Given the description of an element on the screen output the (x, y) to click on. 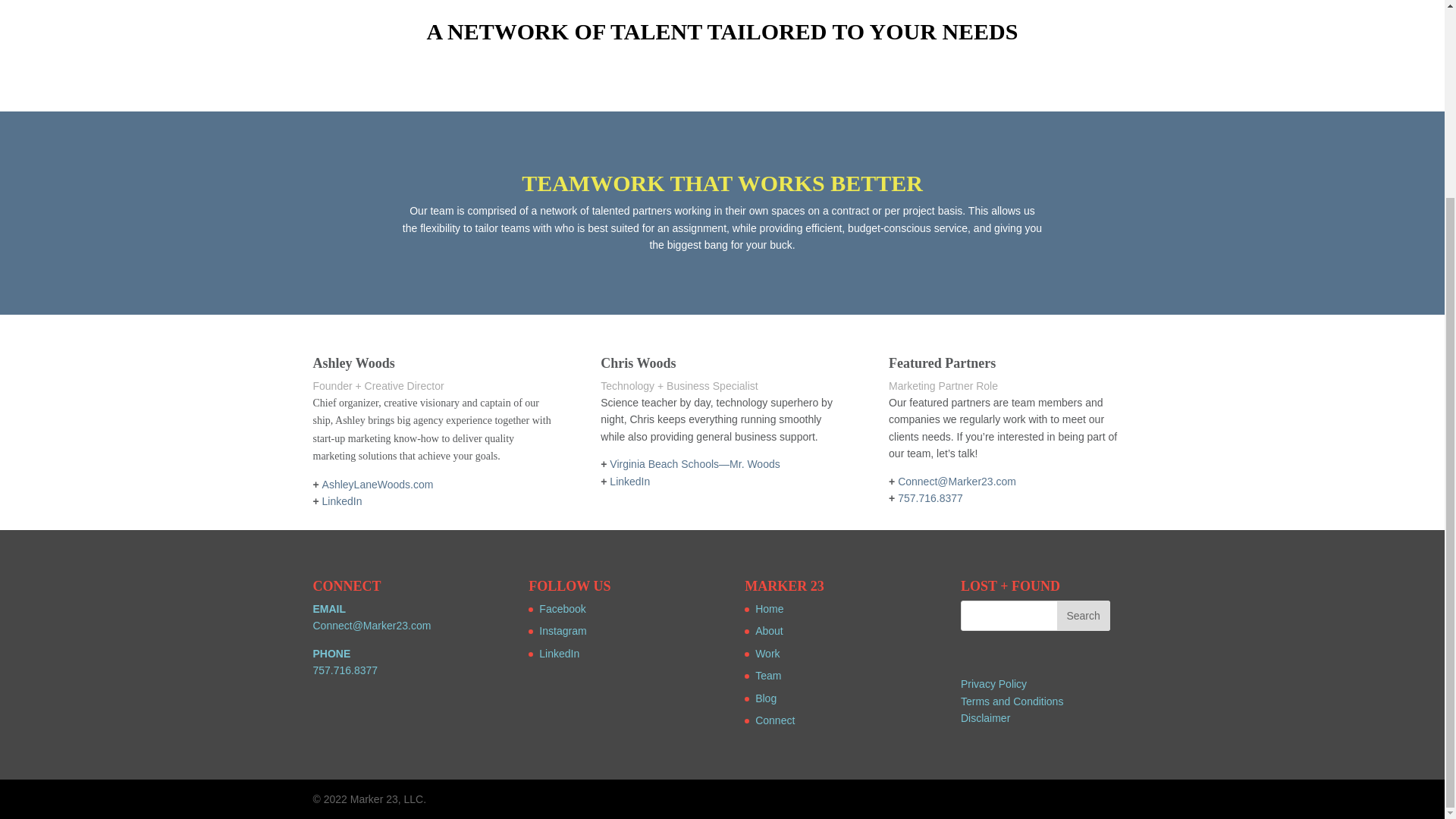
Team (767, 675)
Connect (774, 720)
AshleyLaneWoods.com (377, 484)
Blog (765, 698)
Search (1083, 615)
LinkedIn (341, 500)
Home (769, 608)
Search (1083, 615)
Work (766, 653)
Terms and Conditions (1011, 701)
Privacy Policy (993, 684)
757.716.8377 (345, 670)
Instagram (562, 630)
Facebook (561, 608)
LinkedIn (629, 481)
